Given the description of an element on the screen output the (x, y) to click on. 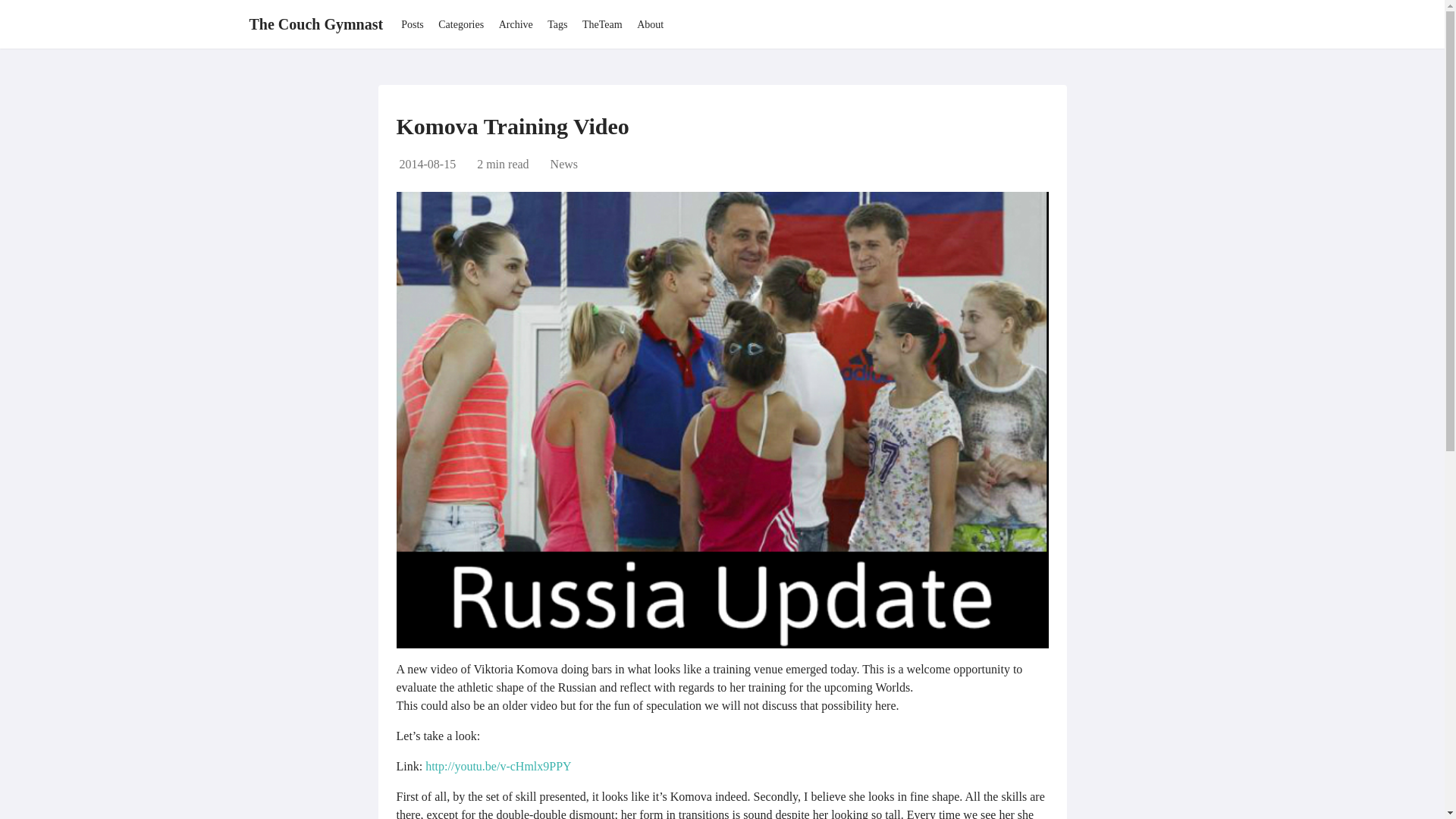
Posts (412, 24)
Archive (515, 24)
The Couch Gymnast (315, 24)
Tags (557, 24)
TheTeam (602, 24)
About (650, 24)
Categories (460, 24)
News (564, 164)
